Given the description of an element on the screen output the (x, y) to click on. 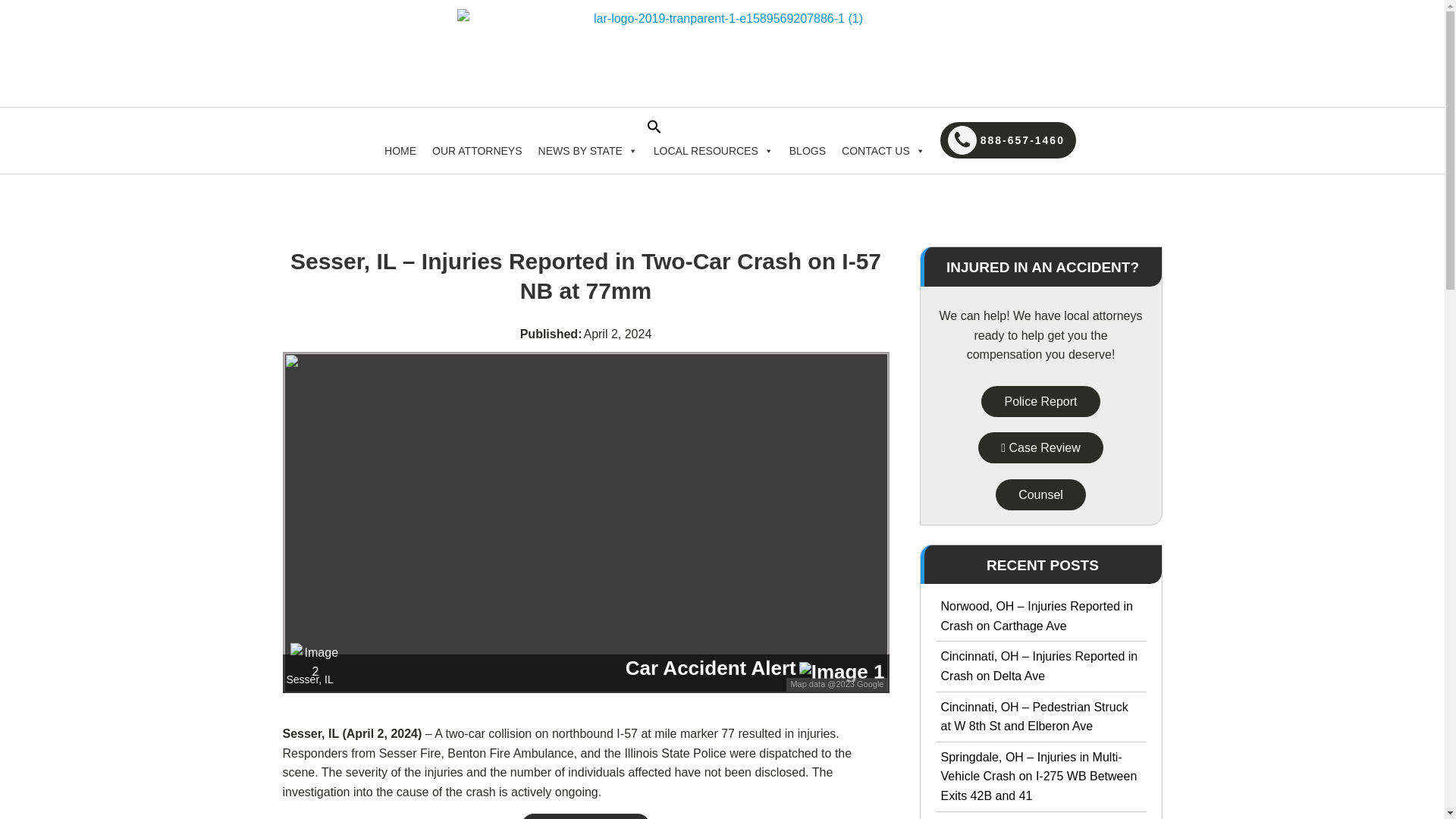
HOME (400, 150)
NEWS BY STATE (588, 150)
OUR ATTORNEYS (477, 150)
Call Us Now (1040, 447)
